Given the description of an element on the screen output the (x, y) to click on. 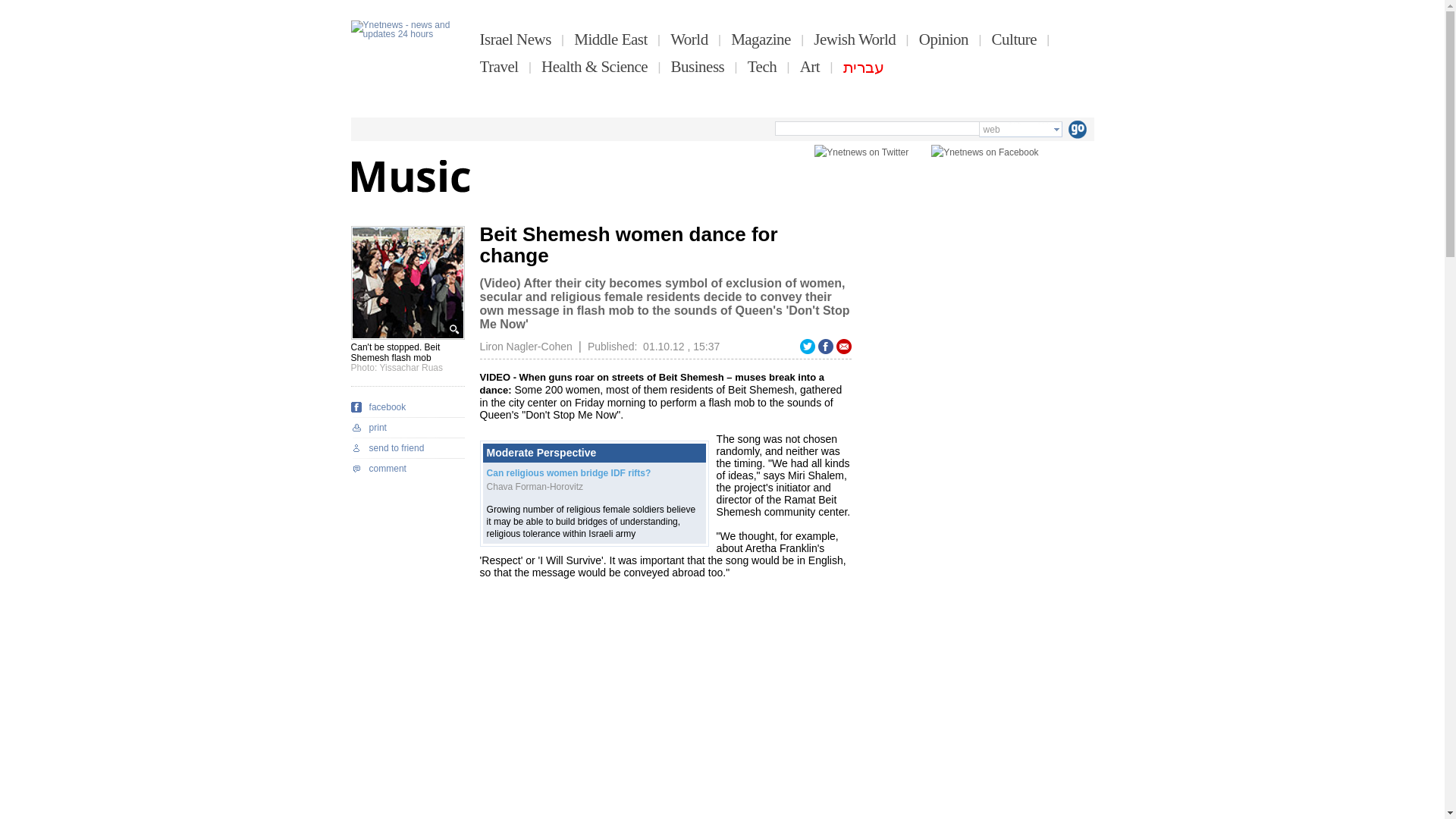
Travel (499, 66)
Magazine (760, 39)
Culture (1013, 39)
Business (698, 66)
Jewish World (854, 39)
Ynetnews on Facebook (984, 152)
Art (810, 66)
Ynetnews on Twitter (860, 152)
Middle East (610, 39)
Israel News (515, 39)
World (688, 39)
3rd party ad content (980, 695)
Ynetnews - news and updates 24 hours (407, 46)
3rd party ad content (980, 320)
Tech (762, 66)
